Given the description of an element on the screen output the (x, y) to click on. 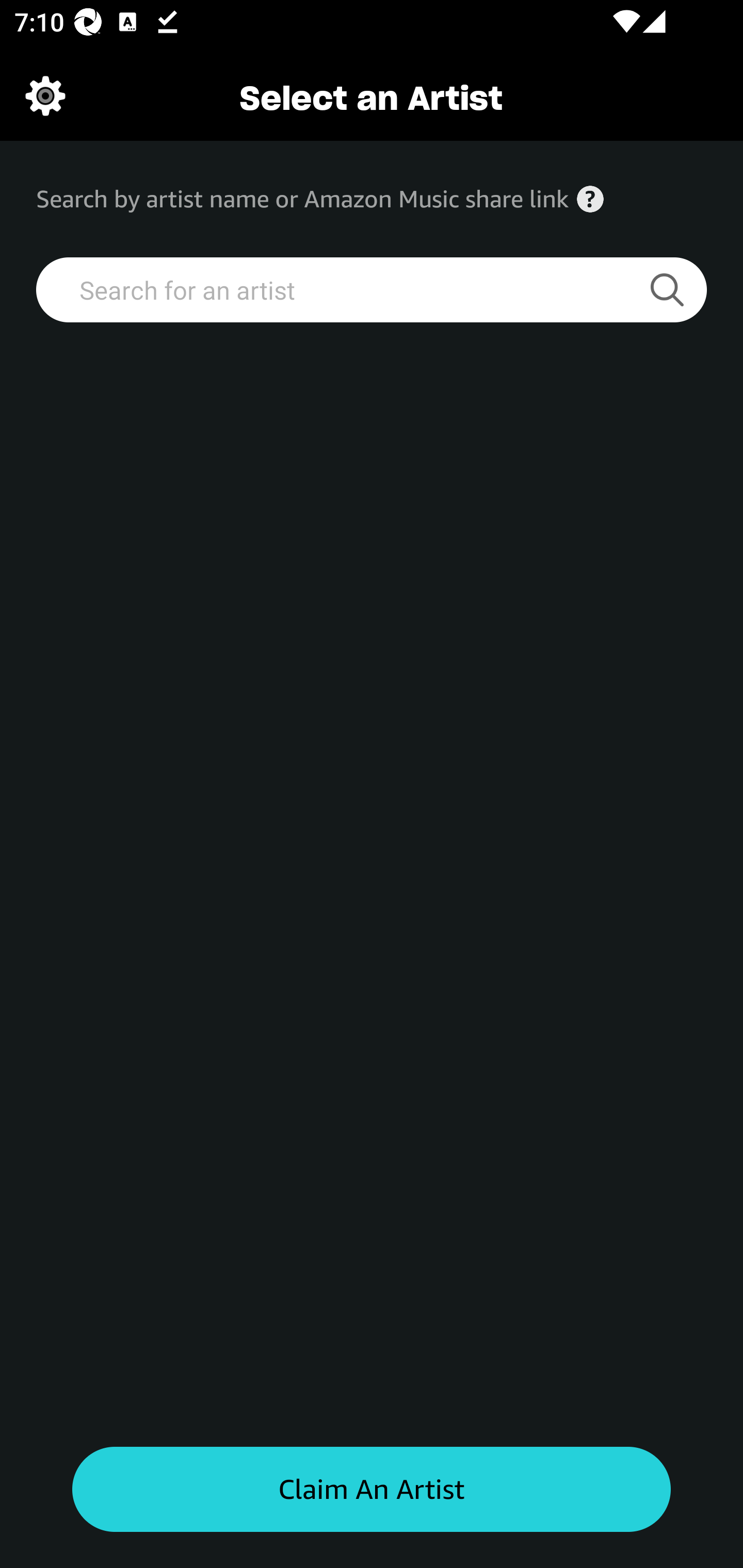
Help  icon (589, 199)
Claim an artist button Claim An Artist (371, 1489)
